Given the description of an element on the screen output the (x, y) to click on. 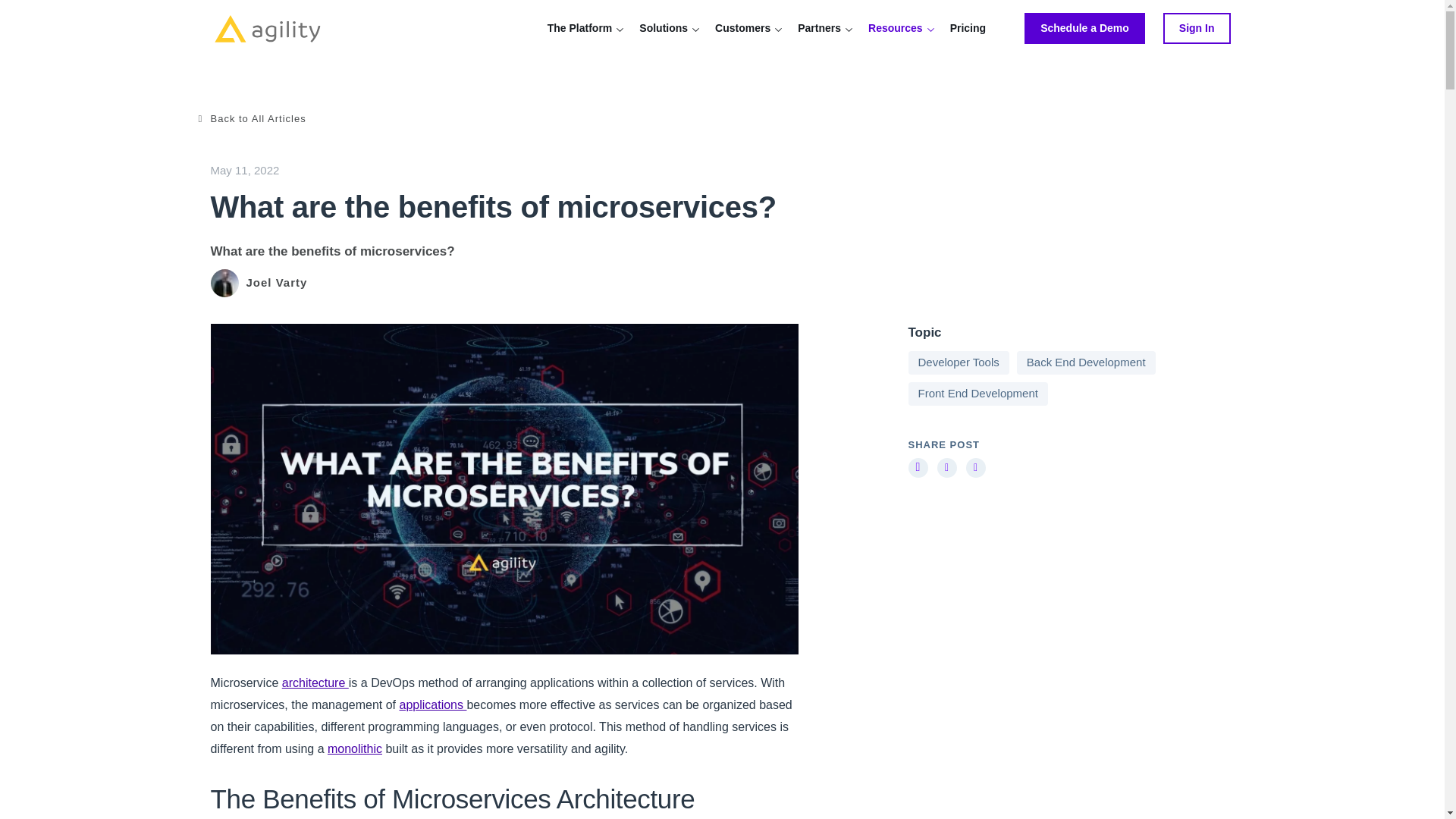
Resources (895, 28)
Pricing (967, 28)
Partners (819, 28)
The Platform (580, 28)
Customers (742, 28)
Solutions (663, 28)
Agility (267, 28)
